Given the description of an element on the screen output the (x, y) to click on. 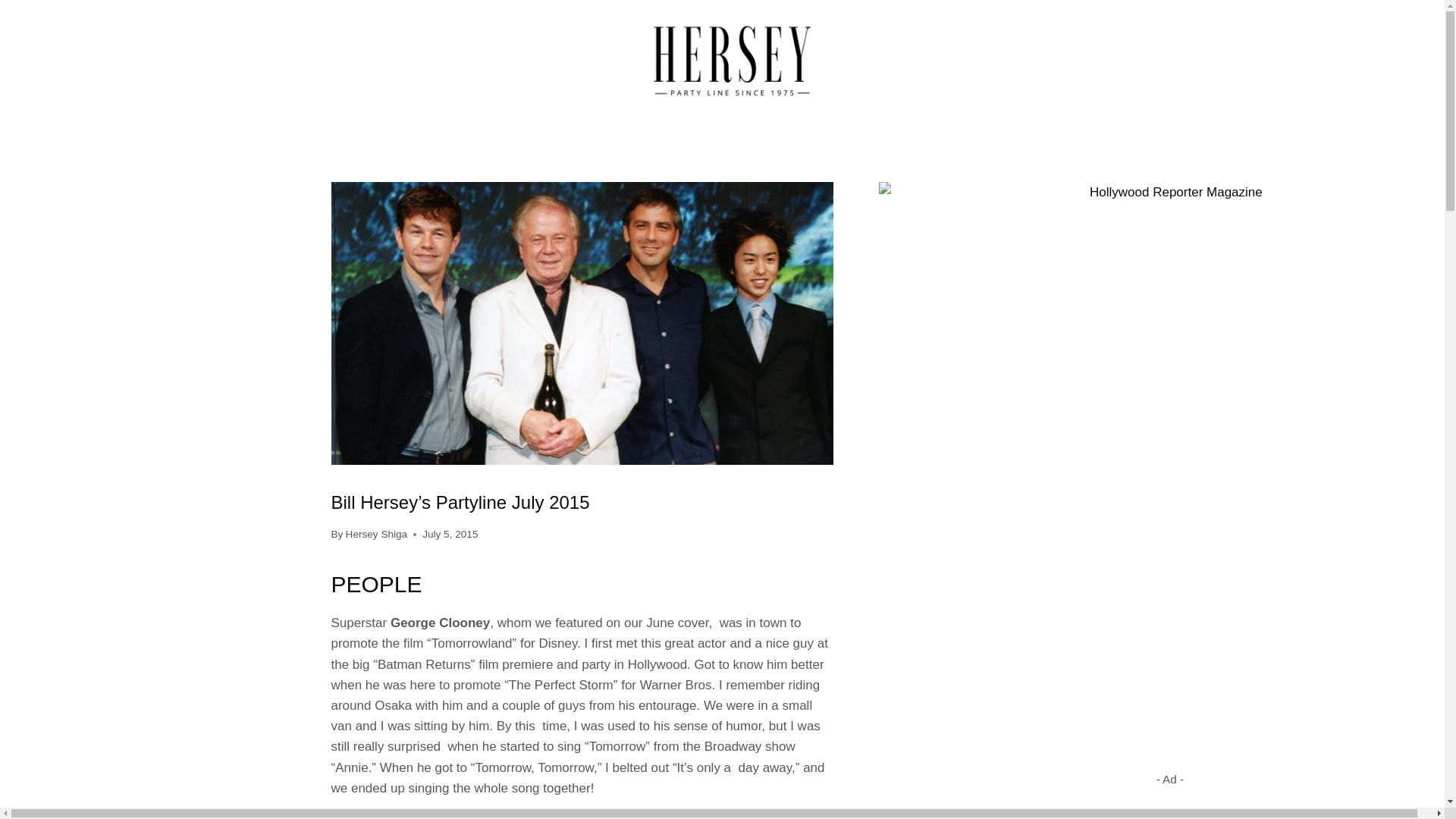
Hersey Shiga (376, 533)
